Given the description of an element on the screen output the (x, y) to click on. 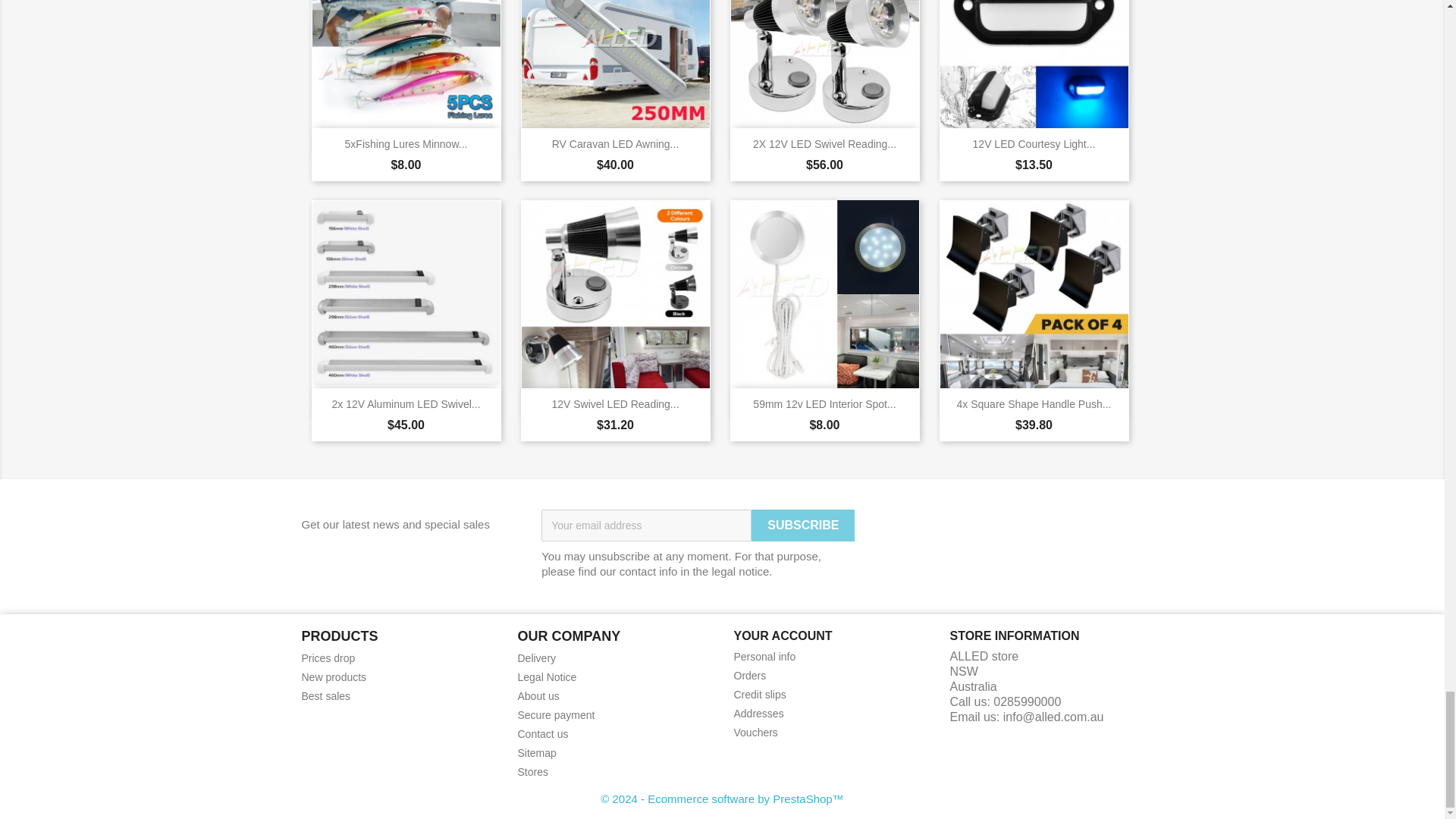
Subscribe (802, 525)
